Given the description of an element on the screen output the (x, y) to click on. 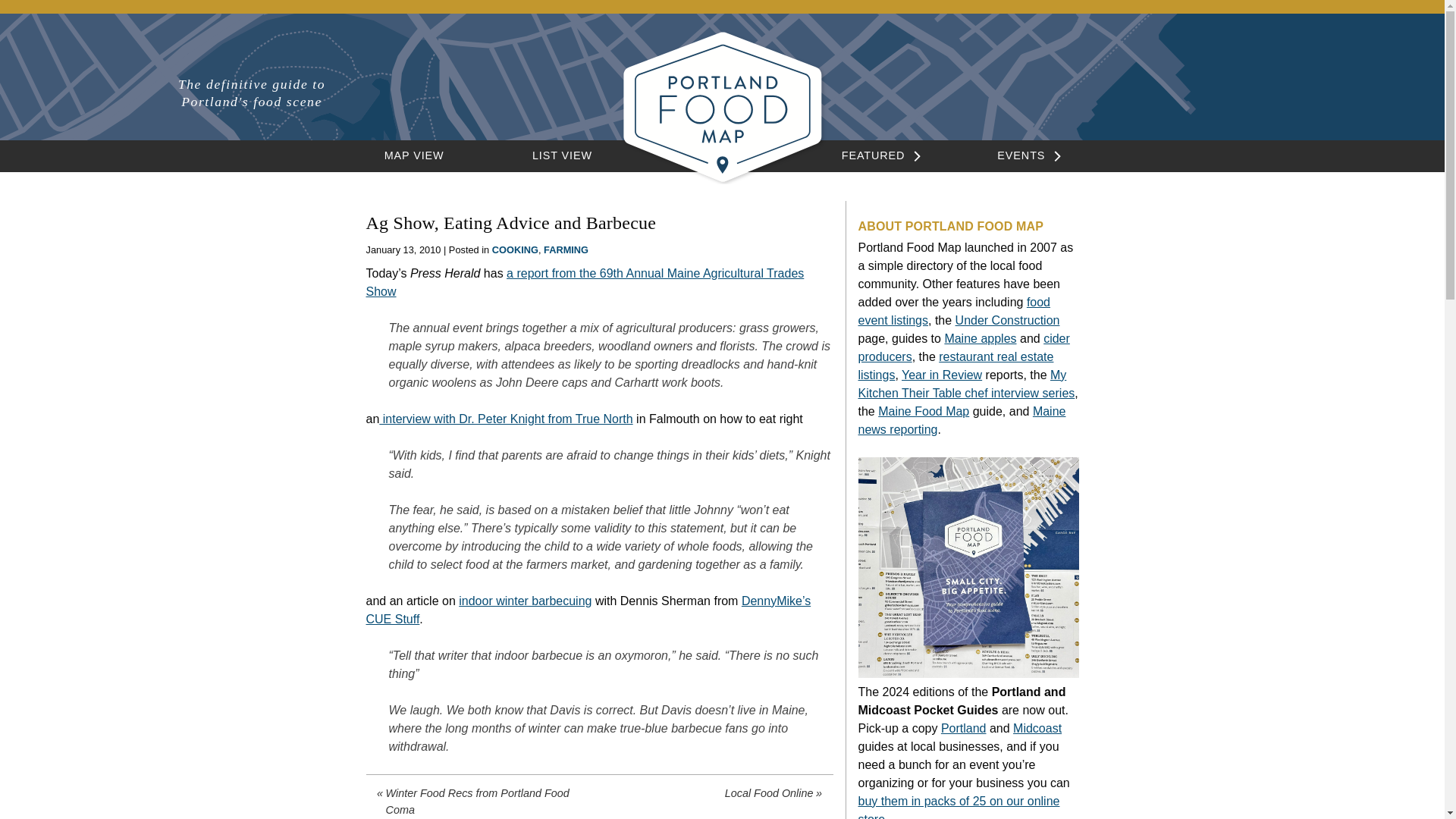
FEATURED (873, 155)
a report from the 69th Annual Maine Agricultural Trades Show (584, 282)
EVENTS (1021, 155)
expand child menu (1053, 156)
Under Construction (1007, 319)
January 13, 2010 (403, 249)
cider producers (964, 347)
COOKING (515, 249)
Twitter icon (1223, 88)
Local Food Online (713, 793)
